Given the description of an element on the screen output the (x, y) to click on. 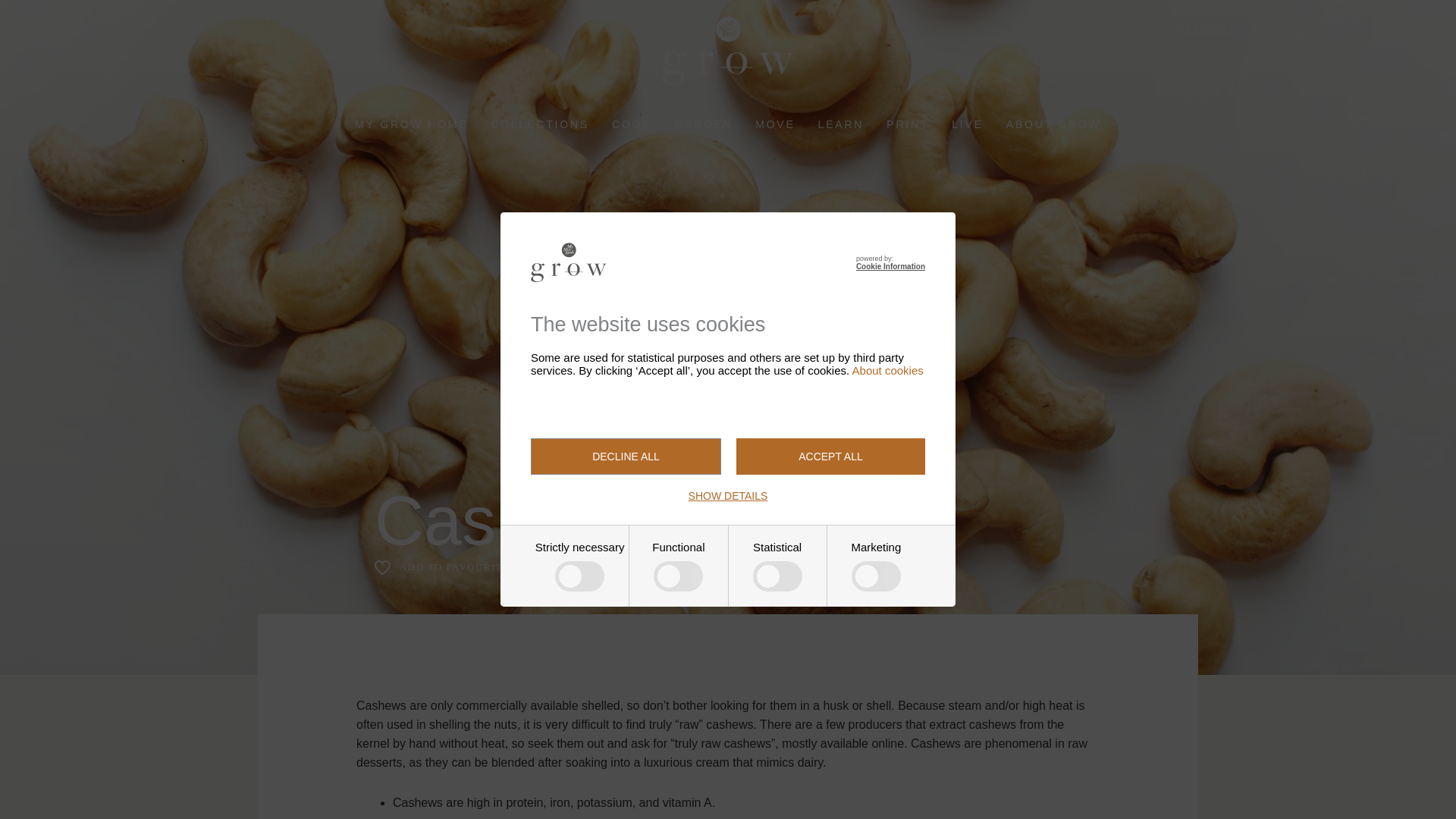
DECLINE ALL (625, 456)
SHOW DETAILS (728, 495)
ACCEPT ALL (830, 456)
Cookie Information (890, 266)
About cookies (887, 369)
